Given the description of an element on the screen output the (x, y) to click on. 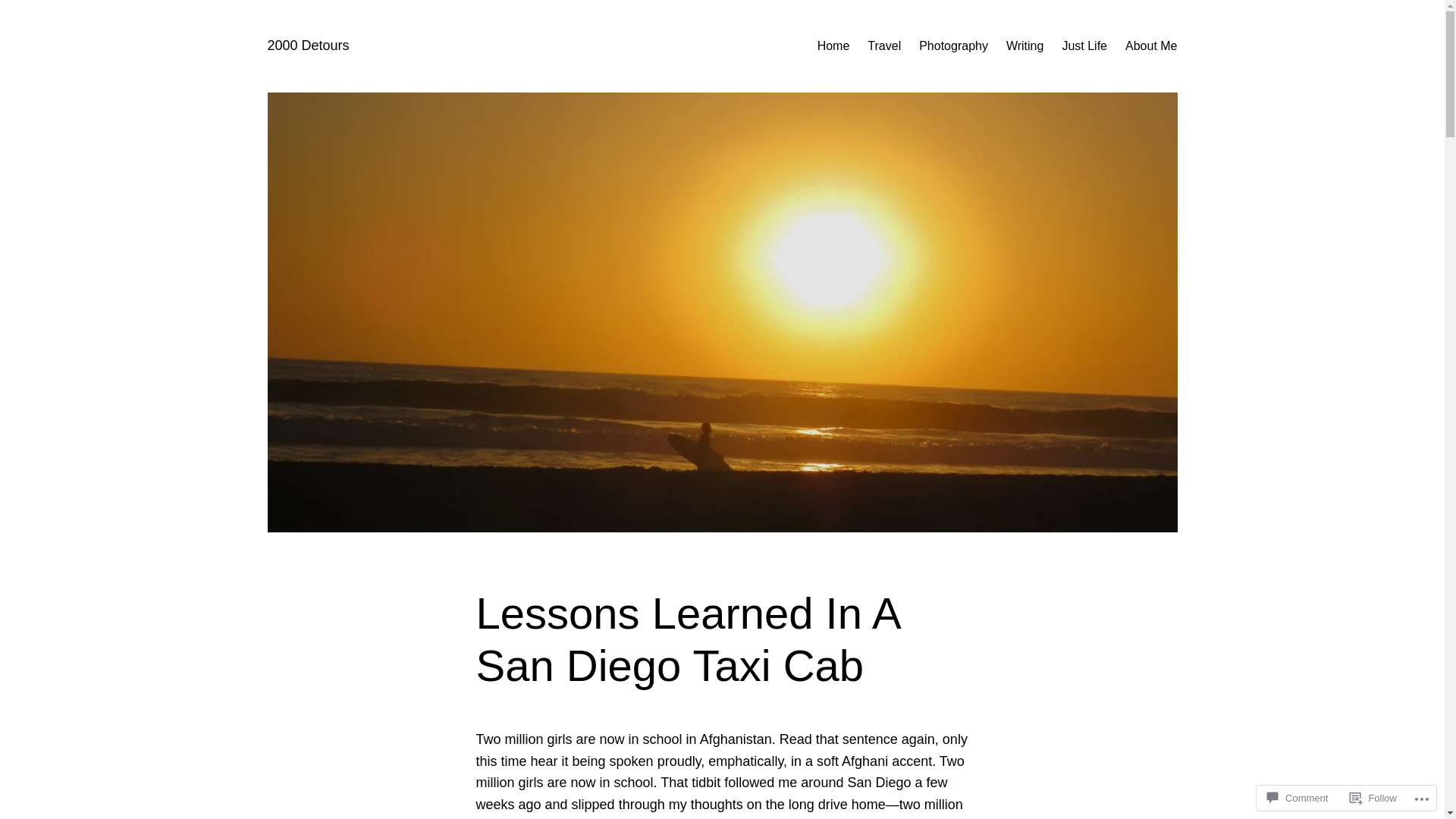
Travel Element type: text (883, 46)
Writing Element type: text (1025, 46)
Just Life Element type: text (1084, 46)
Comment Element type: text (1297, 797)
About Me Element type: text (1150, 46)
2000 Detours Element type: text (307, 45)
Photography Element type: text (953, 46)
Home Element type: text (833, 46)
Follow Element type: text (1372, 797)
